Given the description of an element on the screen output the (x, y) to click on. 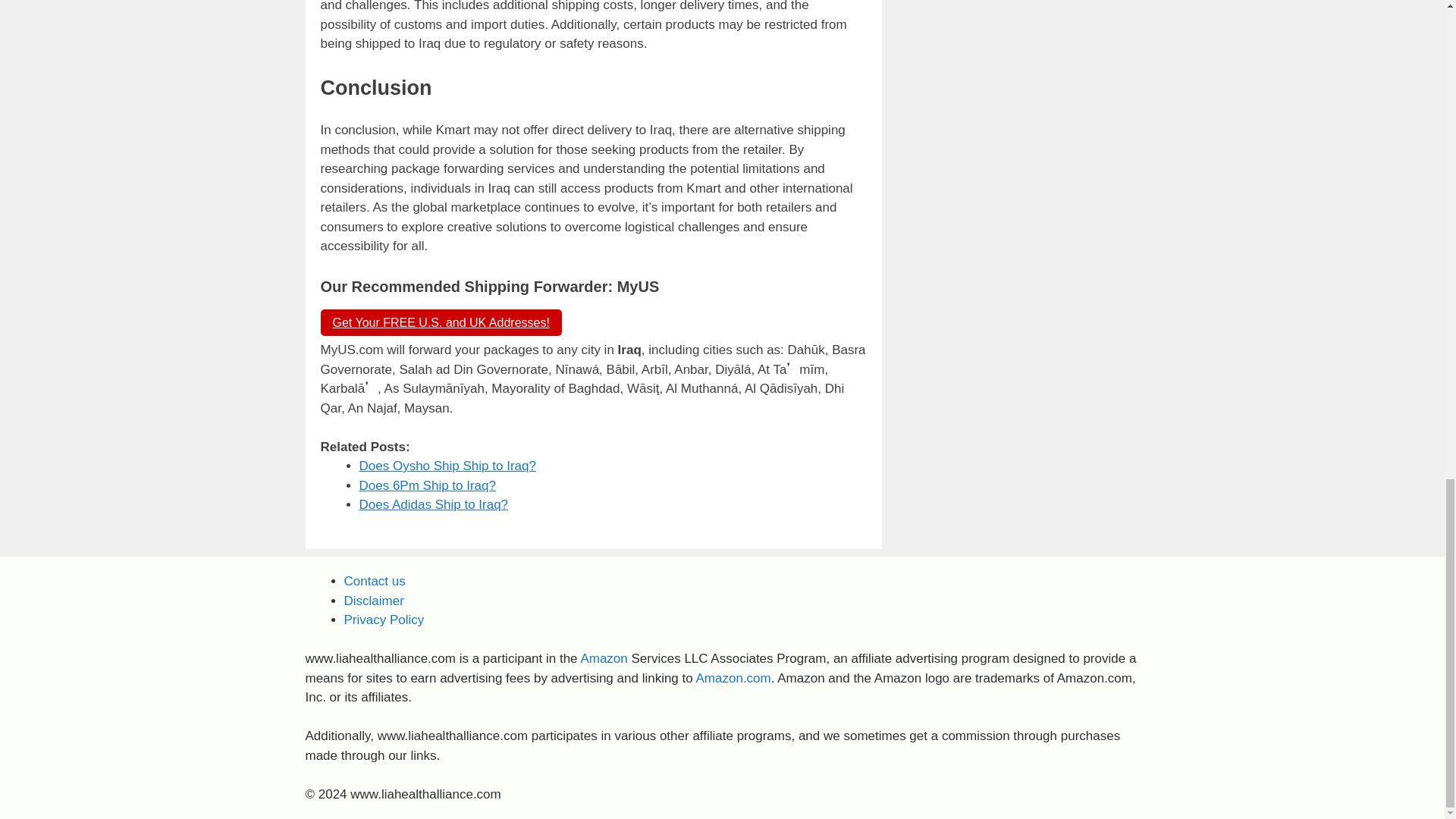
Amazon (603, 658)
Does Oysho Ship Ship to Iraq? (447, 465)
Does 6Pm Ship to Iraq? (427, 485)
Does Adidas Ship to Iraq? (433, 504)
Amazon.com (733, 677)
Get Your FREE U.S. and UK Addresses! (440, 322)
Contact us (374, 581)
Disclaimer (373, 600)
Privacy Policy (384, 619)
